Given the description of an element on the screen output the (x, y) to click on. 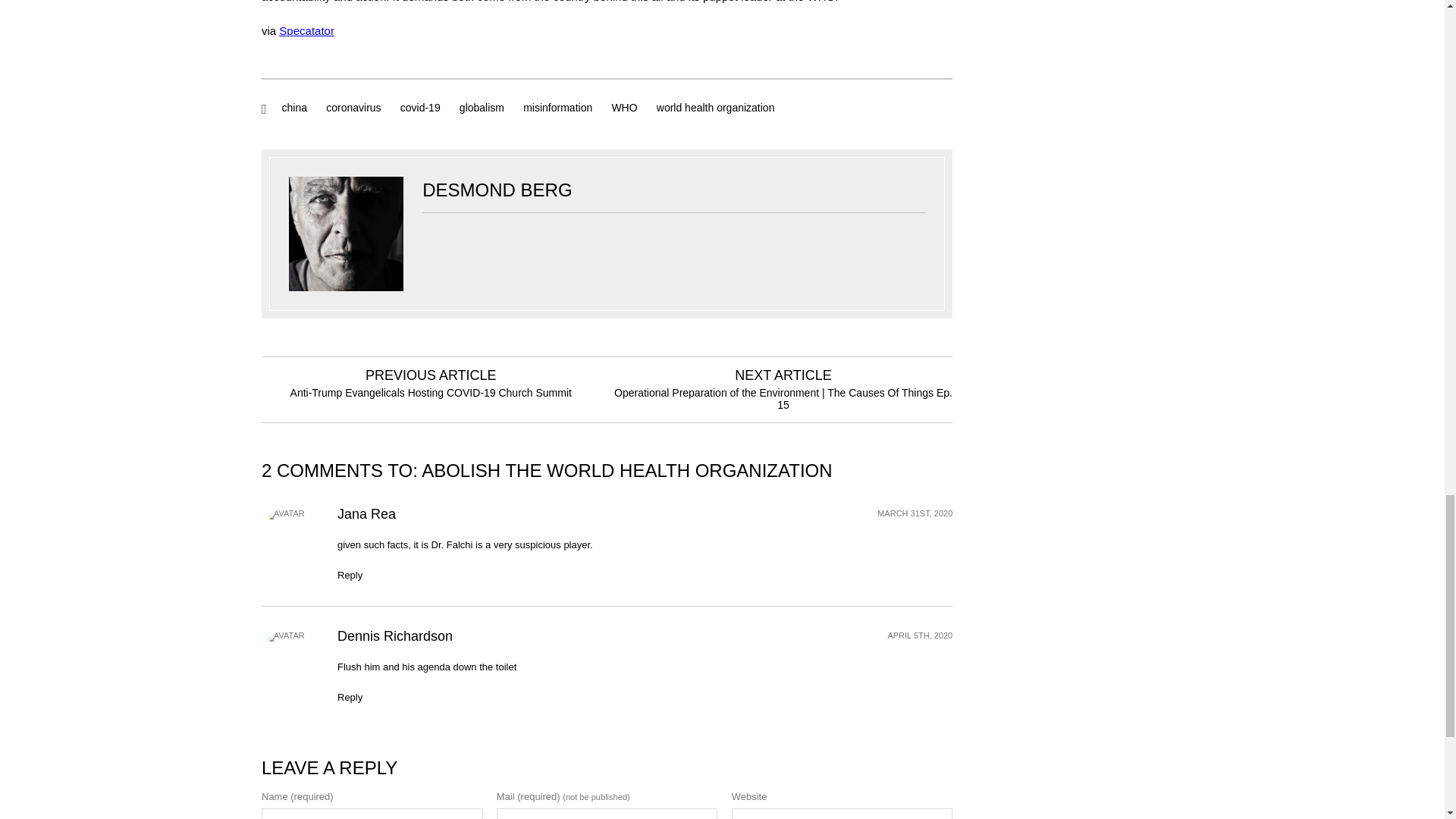
Specatator (306, 30)
Anti-Trump Evangelicals Hosting COVID-19 Church Summit (430, 392)
globalism (481, 107)
world health organization (716, 107)
china (294, 107)
Posts by Desmond Berg (497, 189)
covid-19 (420, 107)
DESMOND BERG (497, 189)
coronavirus (353, 107)
WHO (624, 107)
